Given the description of an element on the screen output the (x, y) to click on. 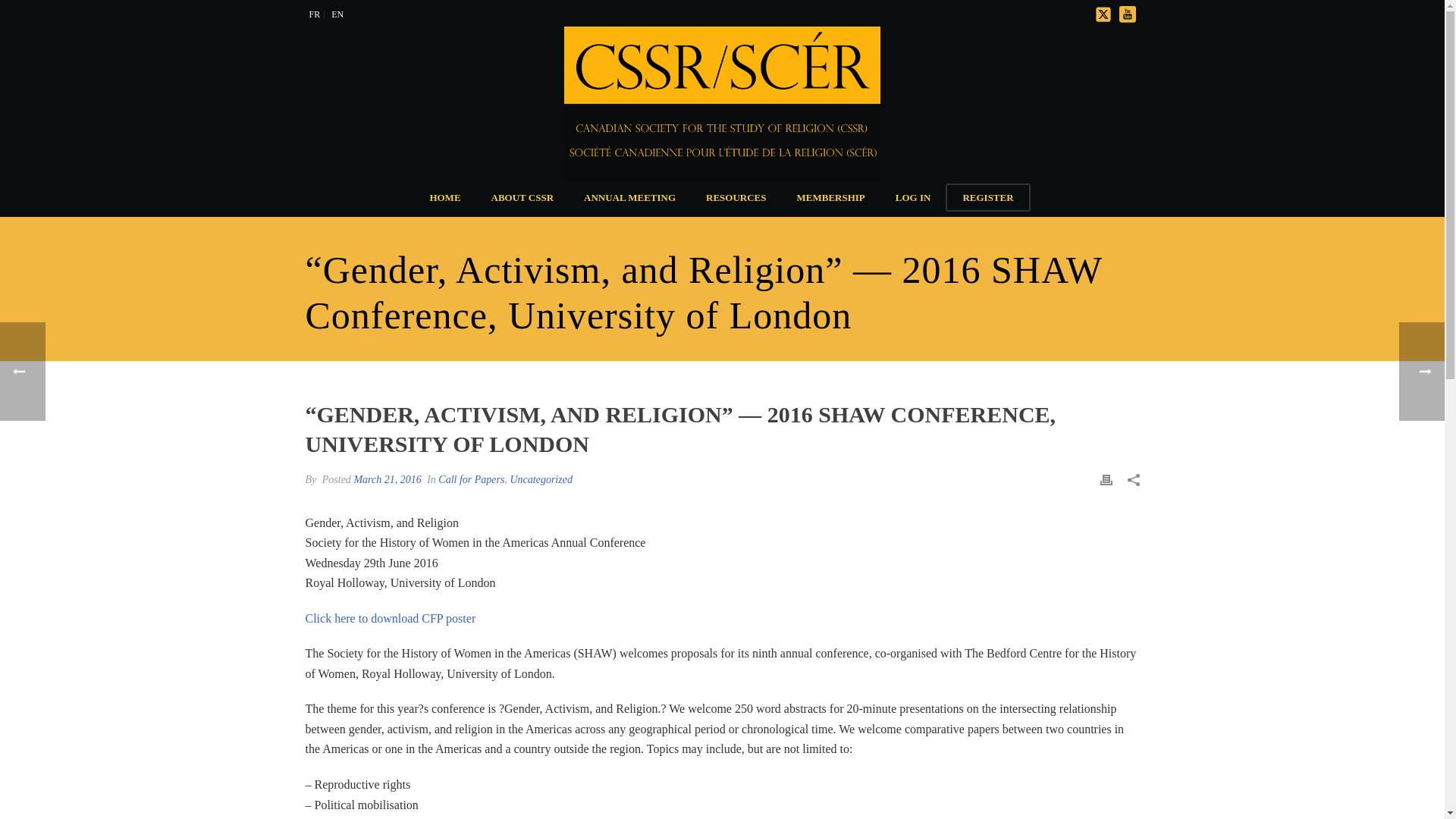
ANNUAL MEETING (629, 197)
REGISTER (986, 197)
ABOUT CSSR (522, 197)
RESOURCES (735, 197)
ANNUAL MEETING (629, 197)
LOG IN (913, 197)
ABOUT CSSR (522, 197)
CSSRSCER (721, 102)
RESOURCES (735, 197)
EN (337, 14)
